Given the description of an element on the screen output the (x, y) to click on. 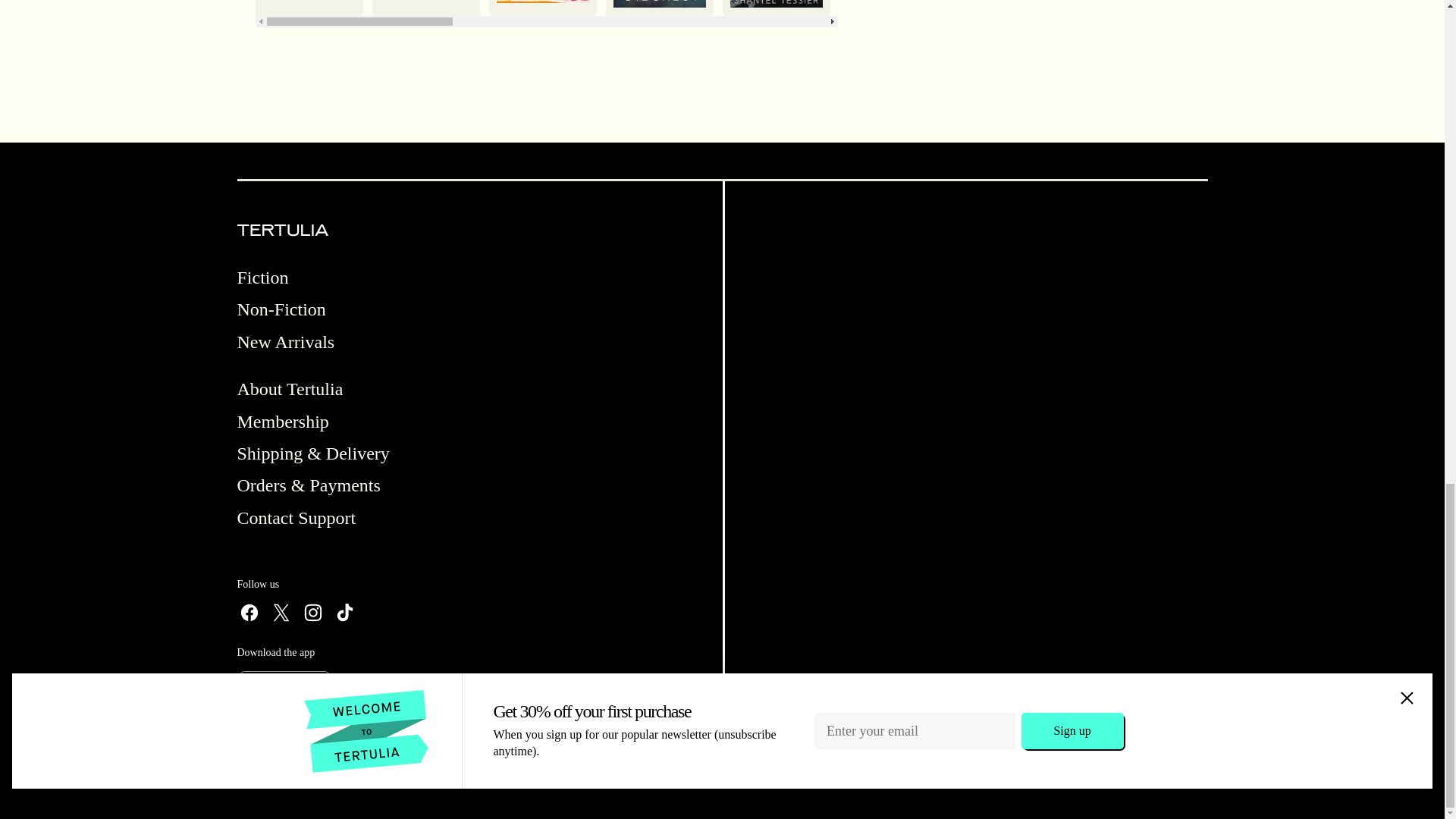
The 21 Irrefutable Law of Leadership (1243, 7)
The Longmire Defense (1359, 7)
Small Town Swoon (892, 7)
Carnage (775, 7)
Little Black Classics Box Set (425, 7)
Outside Your Window (308, 7)
All I Asking for Is My Body (1125, 7)
